Given the description of an element on the screen output the (x, y) to click on. 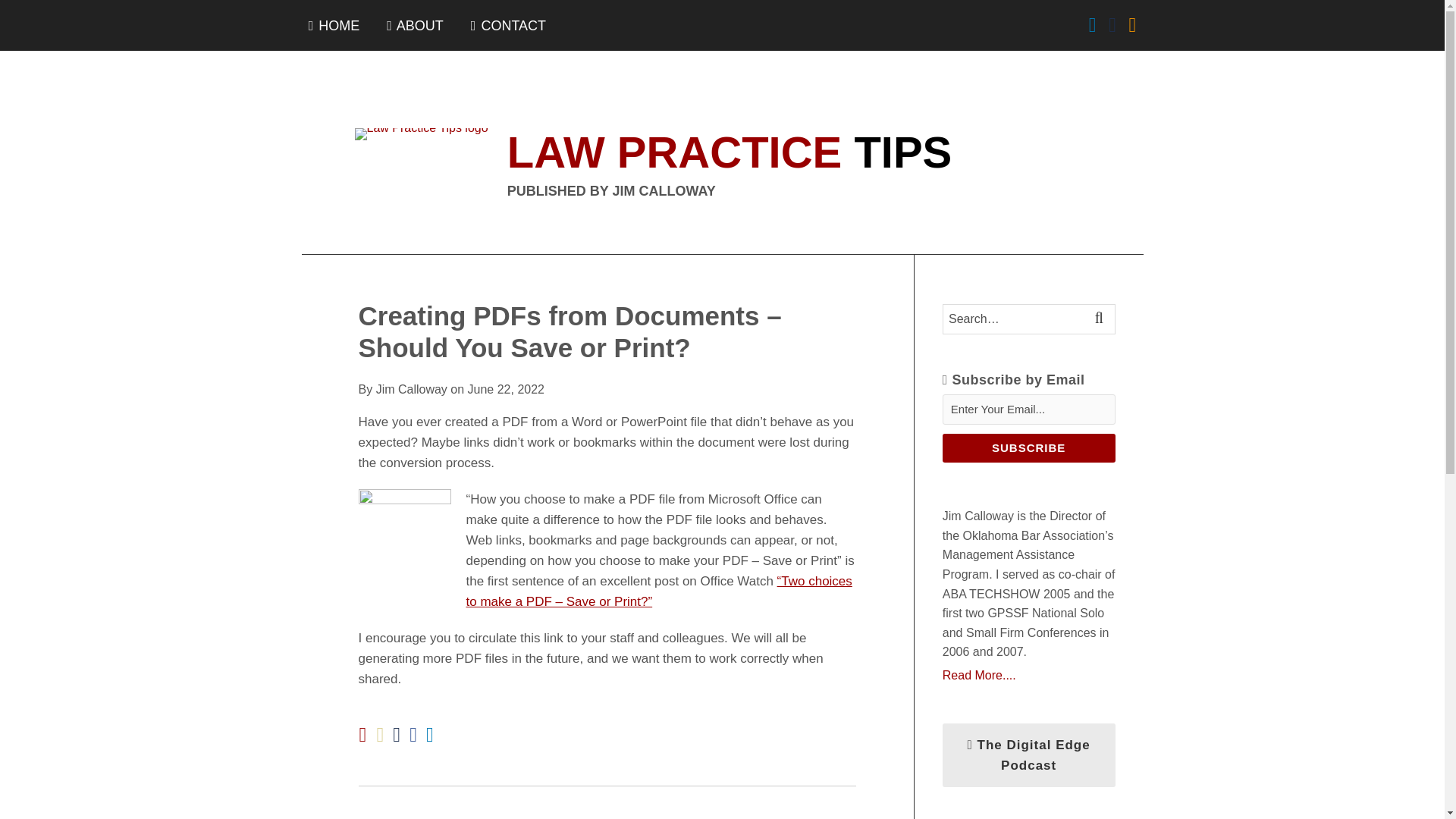
Subscribe (1028, 448)
SEARCH (1101, 318)
CONTACT (508, 25)
HOME (333, 25)
Read More.... (1028, 675)
The Digital Edge Podcast (1028, 755)
LAW PRACTICE TIPS (729, 151)
ABOUT (415, 25)
Subscribe (1028, 448)
